Given the description of an element on the screen output the (x, y) to click on. 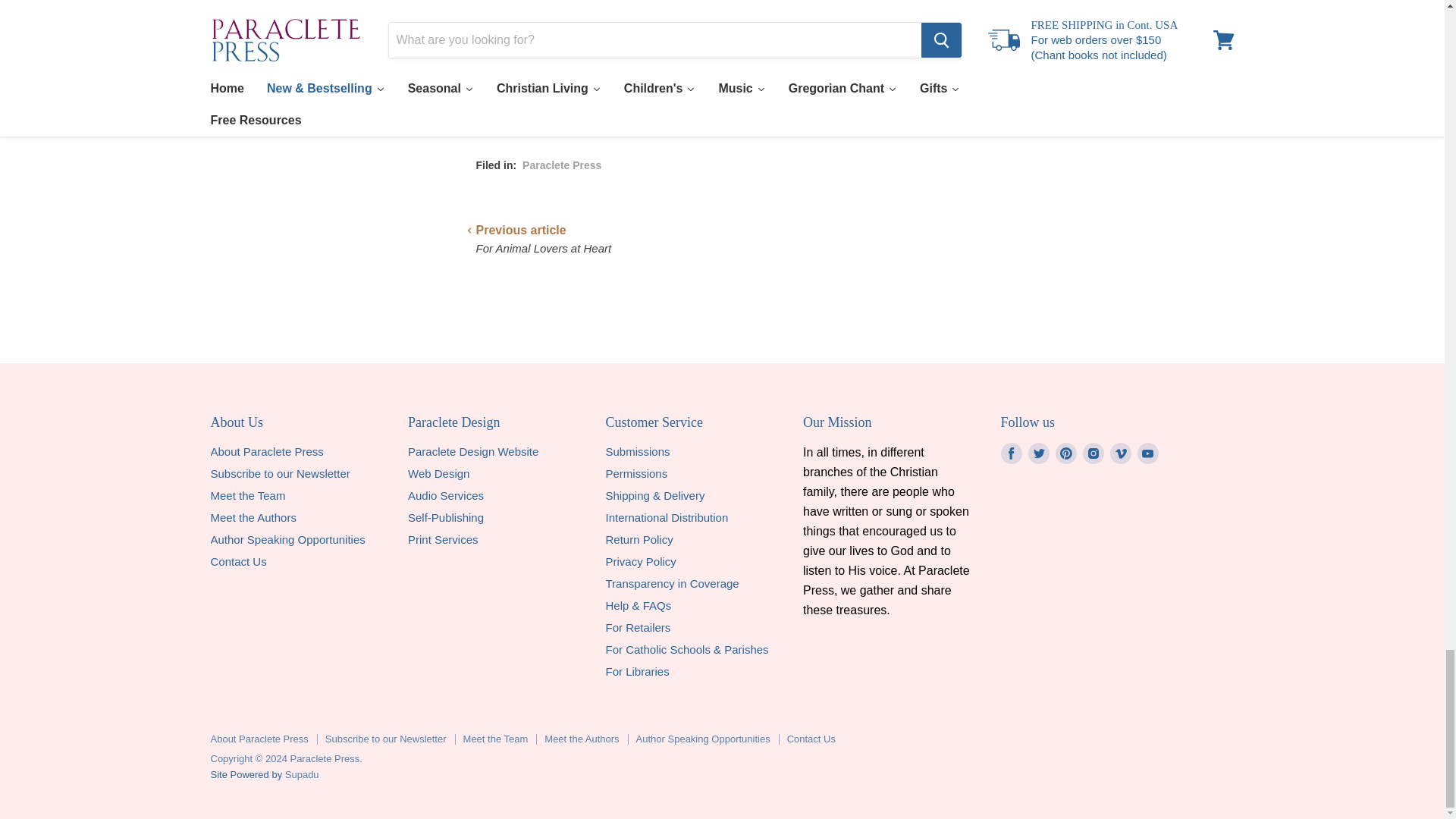
Twitter (1038, 452)
Instagram (1093, 452)
Show articles tagged Paraclete Press (561, 164)
Pinterest (1066, 452)
Facebook (1011, 452)
